Given the description of an element on the screen output the (x, y) to click on. 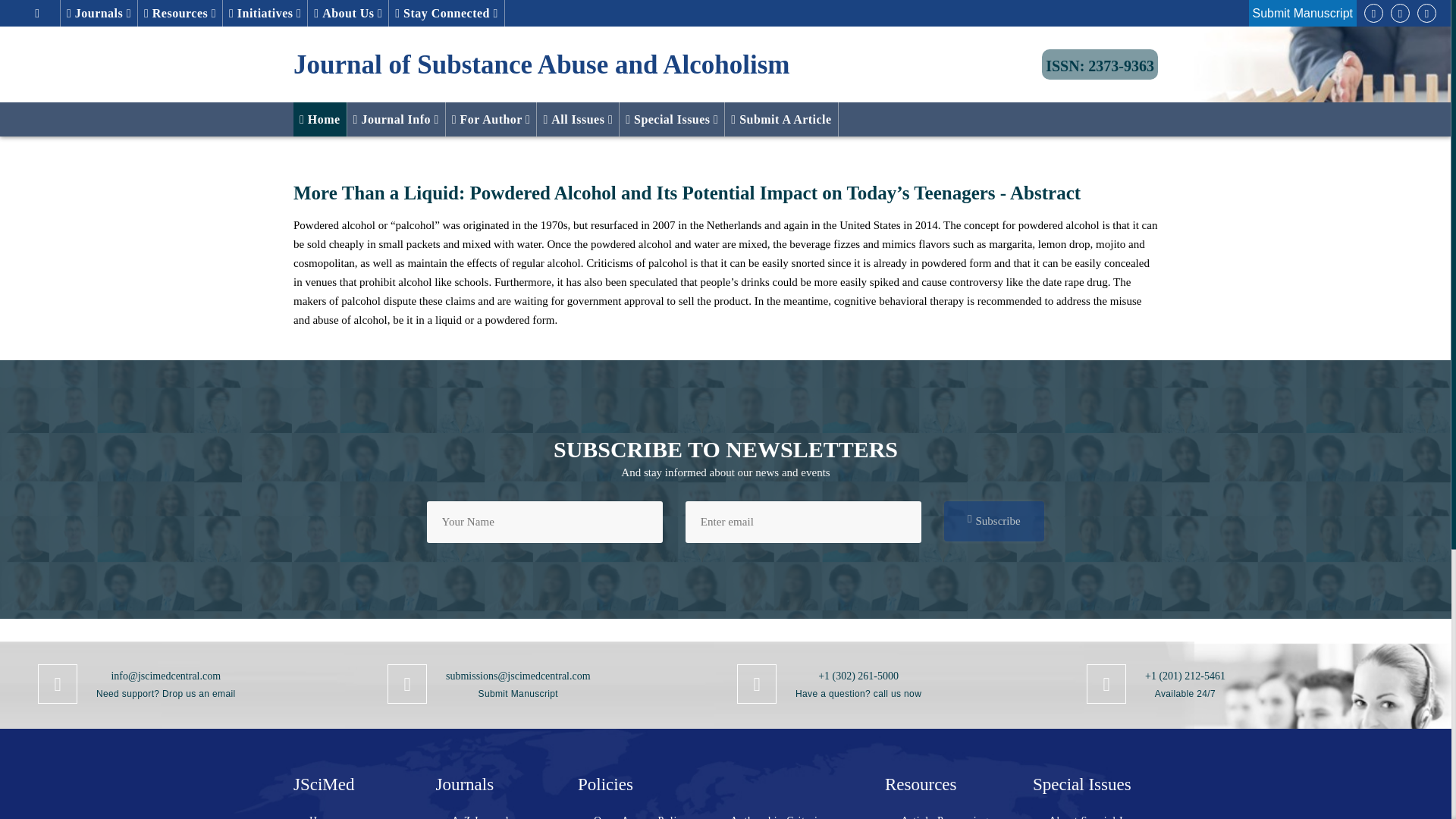
Stay Connected (445, 13)
Resources (180, 13)
Journals (98, 13)
Initiatives (264, 13)
About Us (347, 13)
JSciMed (1099, 64)
